Given the description of an element on the screen output the (x, y) to click on. 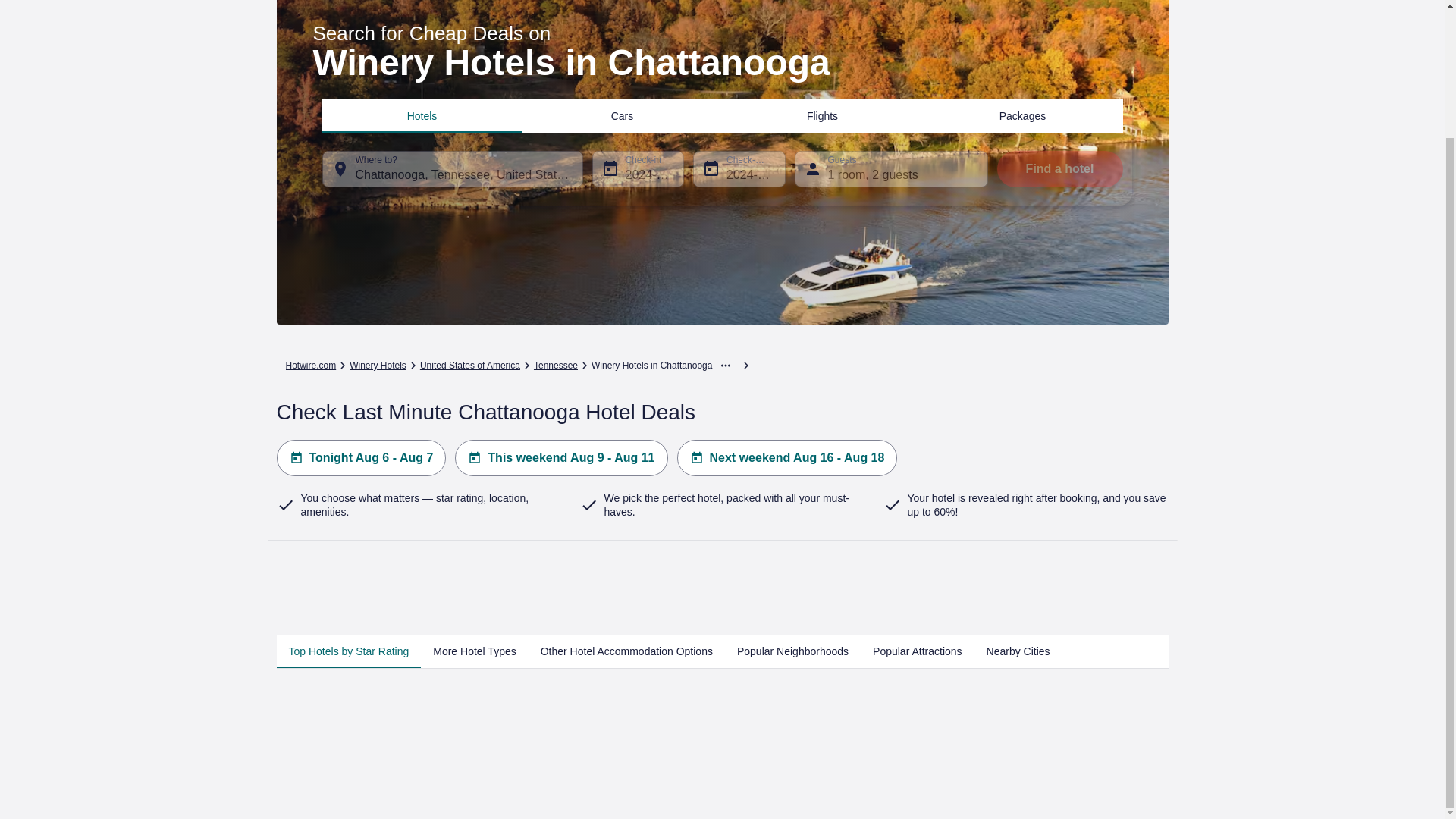
1 room, 2 guests (891, 167)
Packages (1021, 114)
2024-08-06 (637, 167)
United States of America (469, 365)
Flights (821, 114)
Hotels (421, 114)
Tennessee (556, 365)
This weekend Aug 9 - Aug 11 (560, 457)
Winery Hotels (377, 365)
Tonight Aug 6 - Aug 7 (360, 457)
2024-08-07 (739, 167)
Popular Attractions (917, 651)
Top Hotels by Star Rating (348, 651)
